Given the description of an element on the screen output the (x, y) to click on. 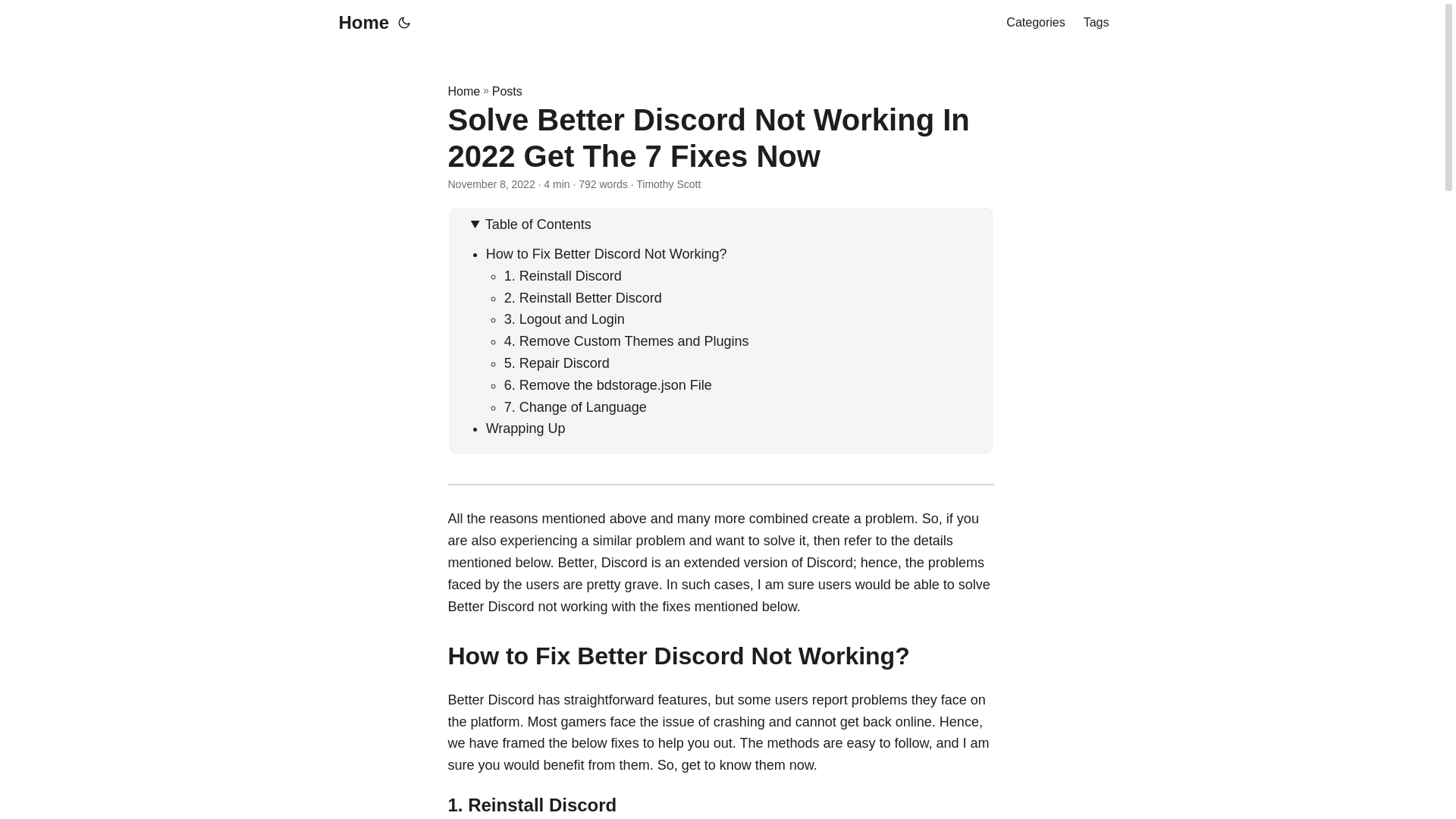
Posts (507, 91)
Wrapping Up (526, 427)
Home (359, 22)
1. Reinstall Discord (562, 275)
5. Repair Discord (556, 363)
4. Remove Custom Themes and Plugins (626, 340)
Categories (1035, 22)
3. Logout and Login (563, 319)
Home (463, 91)
How to Fix Better Discord Not Working? (606, 253)
